Given the description of an element on the screen output the (x, y) to click on. 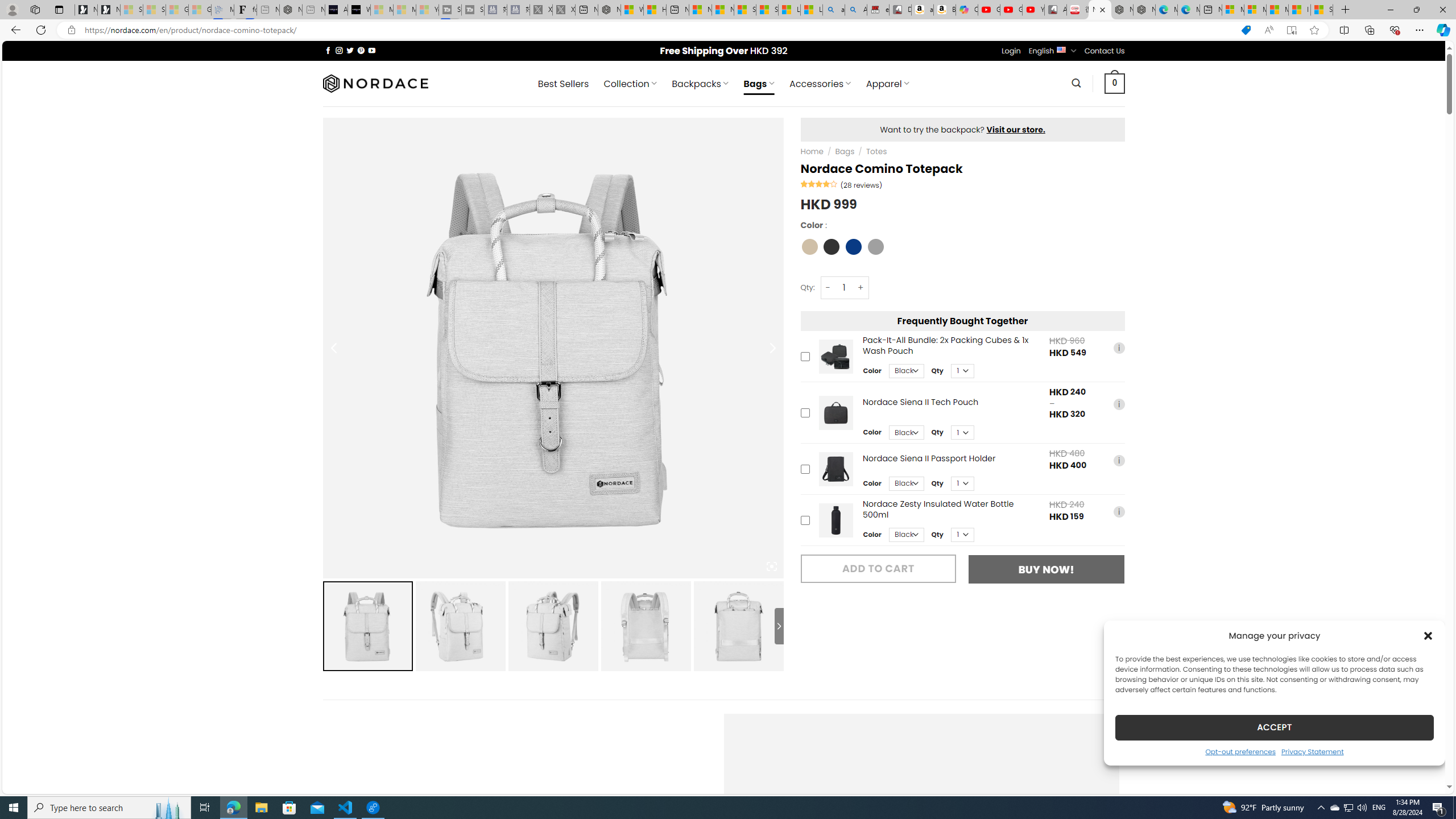
Nordace Comino Totepack quantity (843, 287)
Privacy Statement (1312, 750)
Nordace Siena II Tech Pouch (835, 412)
(28 reviews) (861, 184)
ACCEPT (1274, 727)
